Given the description of an element on the screen output the (x, y) to click on. 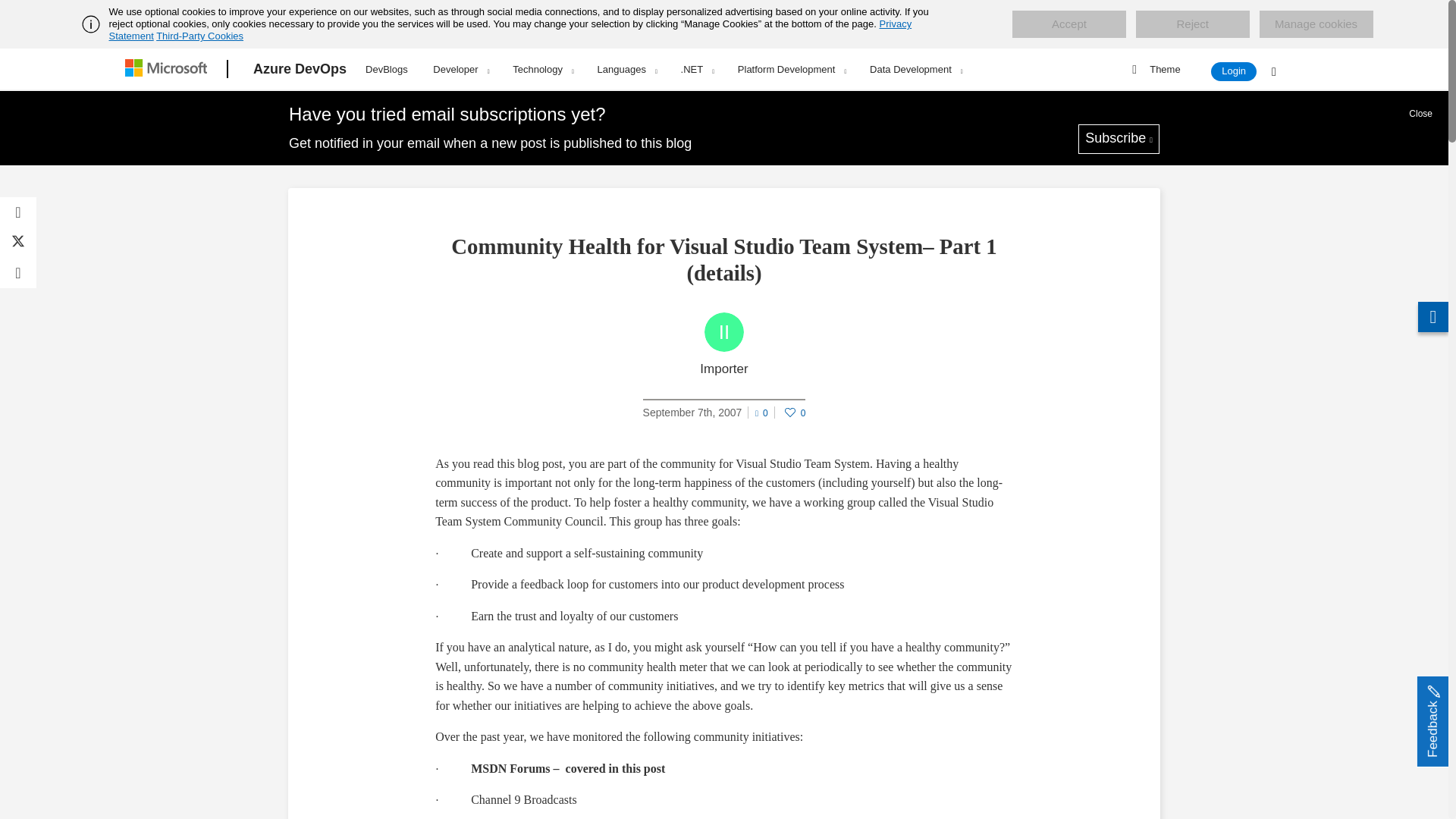
Jump to comments (761, 411)
Technology (542, 69)
Accept (1068, 23)
Privacy Statement (510, 29)
Languages (627, 69)
Share on Twitter (18, 242)
Developer (460, 69)
Azure DevOps (299, 69)
Reject (1192, 23)
Share on Facebook (18, 212)
Manage cookies (1316, 23)
DevBlogs (386, 67)
Third-Party Cookies (199, 35)
